Given the description of an element on the screen output the (x, y) to click on. 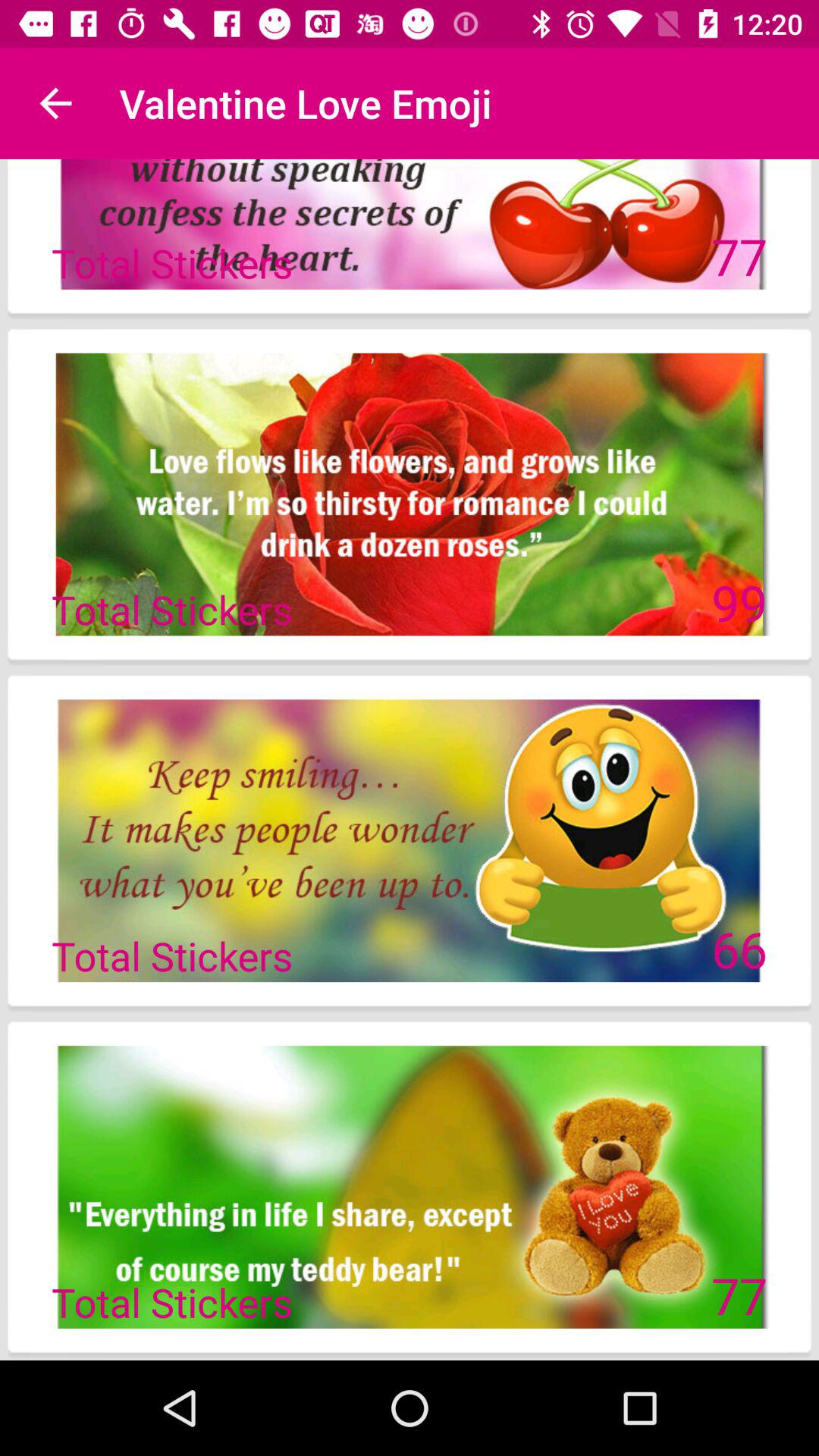
press item next to total stickers item (739, 602)
